Given the description of an element on the screen output the (x, y) to click on. 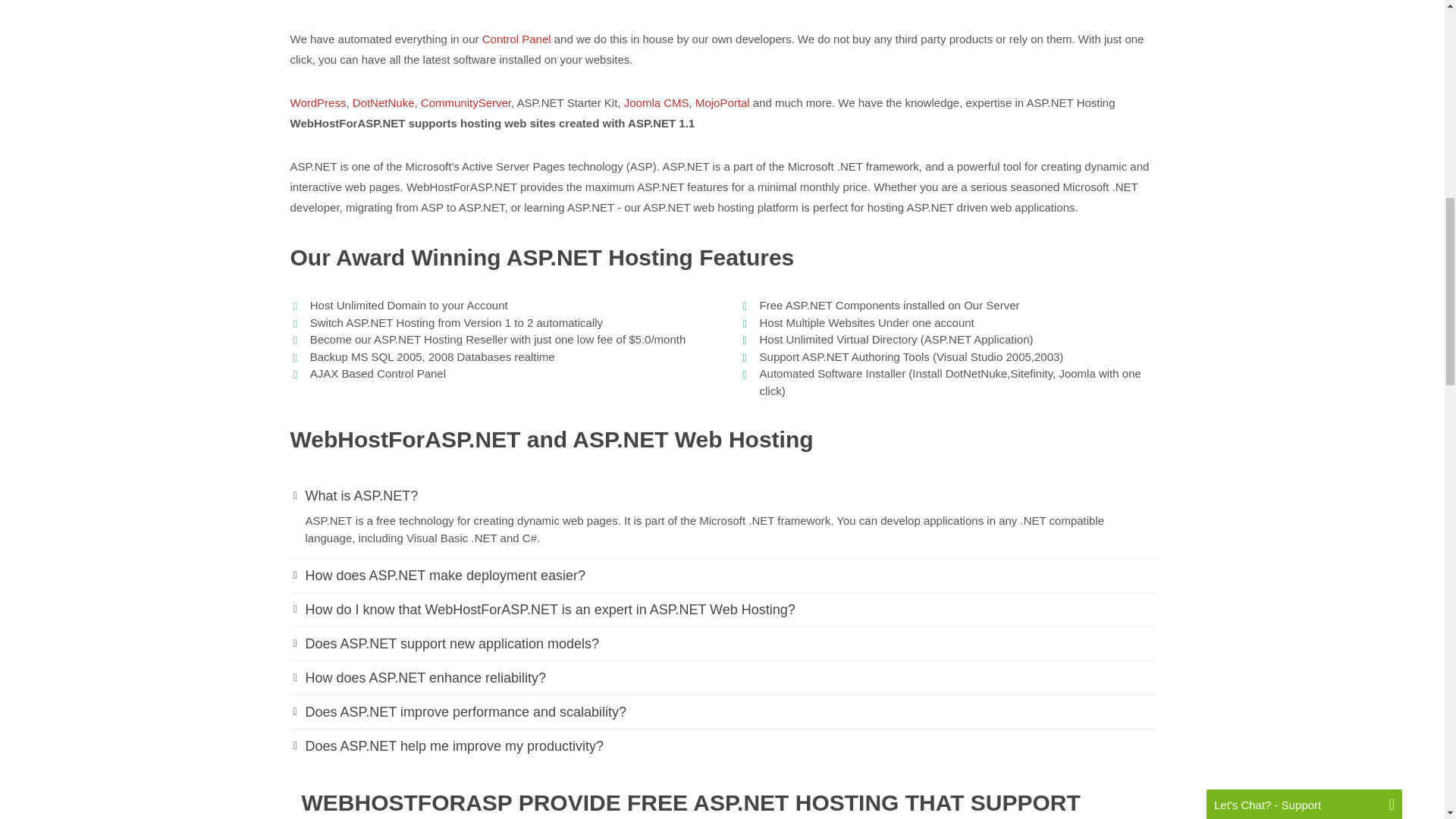
MojoPortal (722, 102)
WordPress (317, 102)
Joomla CMS (656, 102)
DotNetNuke (383, 102)
CommunityServer (465, 102)
Control Panel (516, 38)
